Given the description of an element on the screen output the (x, y) to click on. 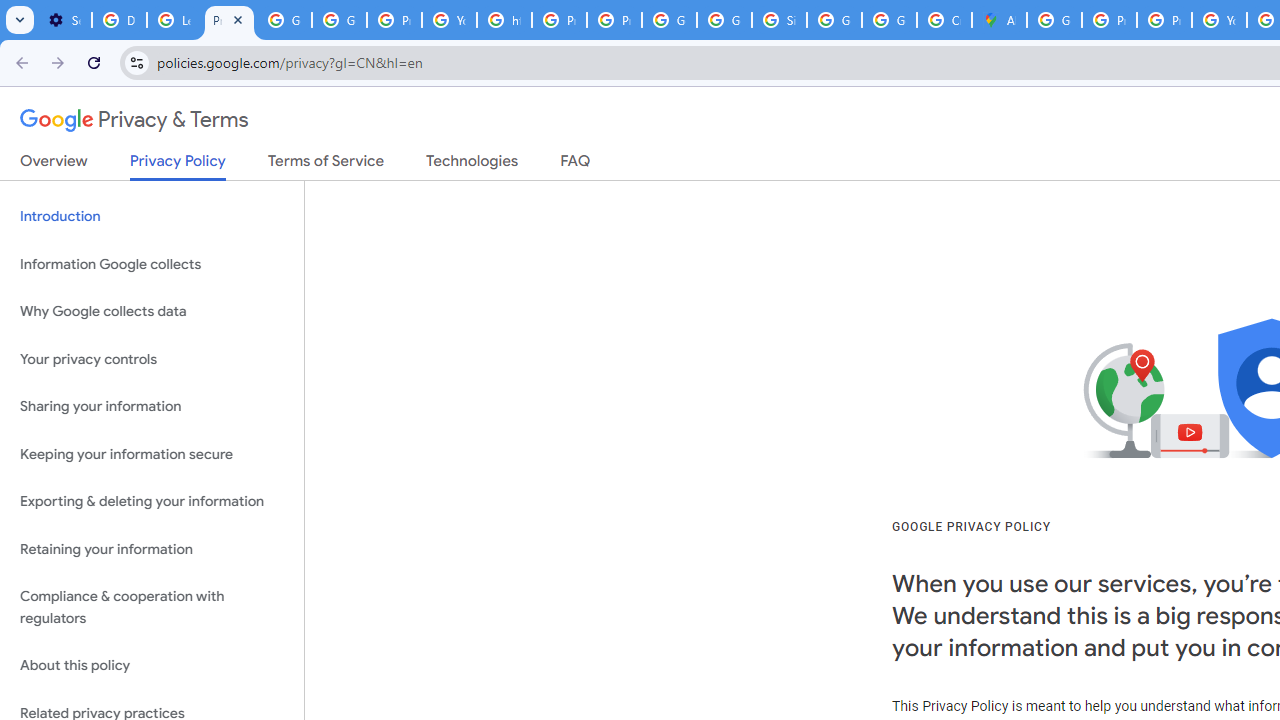
Compliance & cooperation with regulators (152, 607)
Keeping your information secure (152, 453)
Delete photos & videos - Computer - Google Photos Help (119, 20)
Sharing your information (152, 407)
Privacy Help Center - Policies Help (559, 20)
Sign in - Google Accounts (779, 20)
YouTube (449, 20)
